Given the description of an element on the screen output the (x, y) to click on. 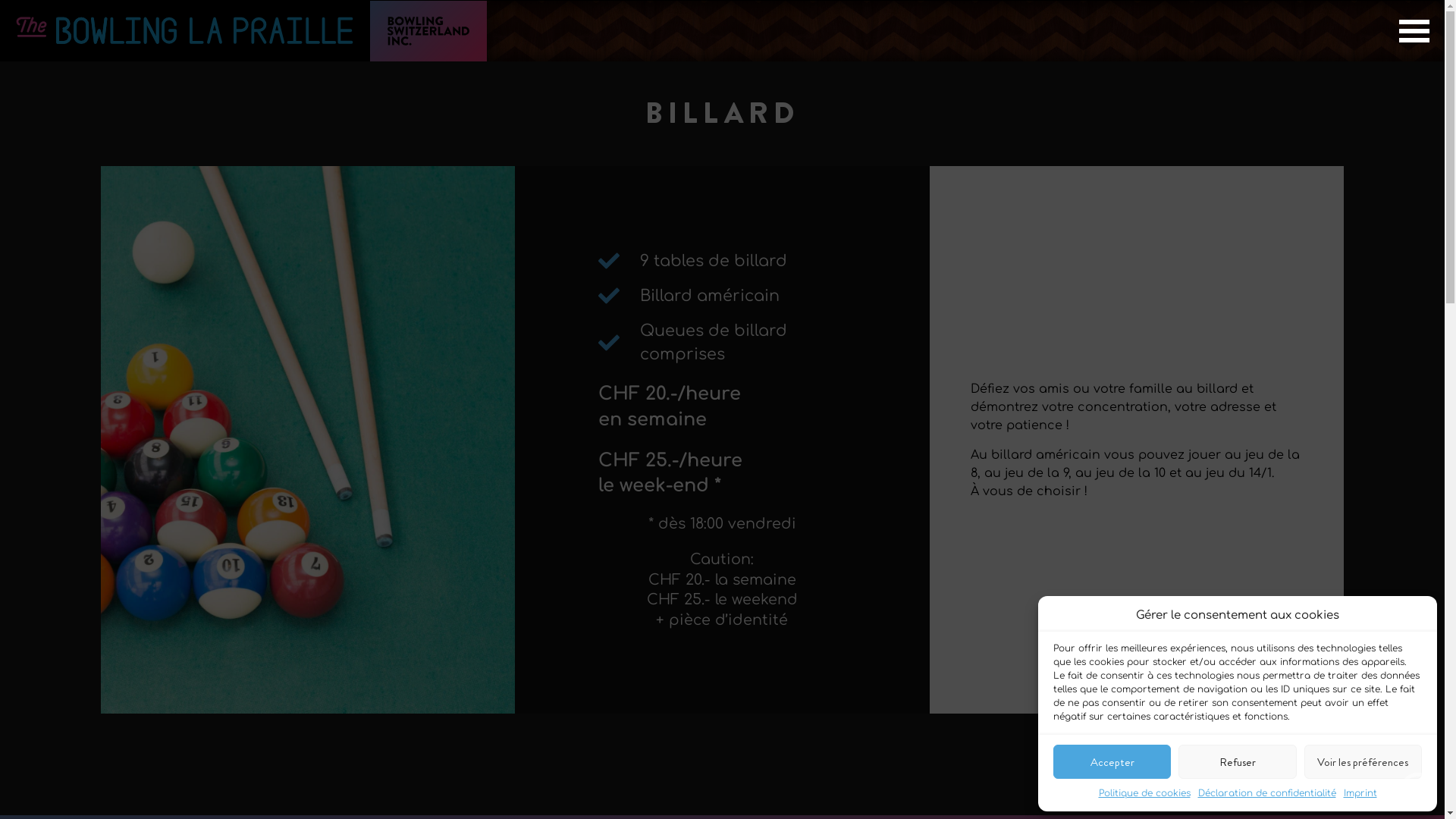
Accepter Element type: text (1111, 761)
INFO Element type: text (71, 788)
la-praille_logo_header Element type: hover (184, 30)
Refuser Element type: text (1236, 761)
HOT Element type: text (189, 788)
Politique de cookies Element type: text (1143, 793)
Bowling-Switzerland-Inc Element type: hover (427, 31)
Imprint Element type: text (1360, 793)
